Given the description of an element on the screen output the (x, y) to click on. 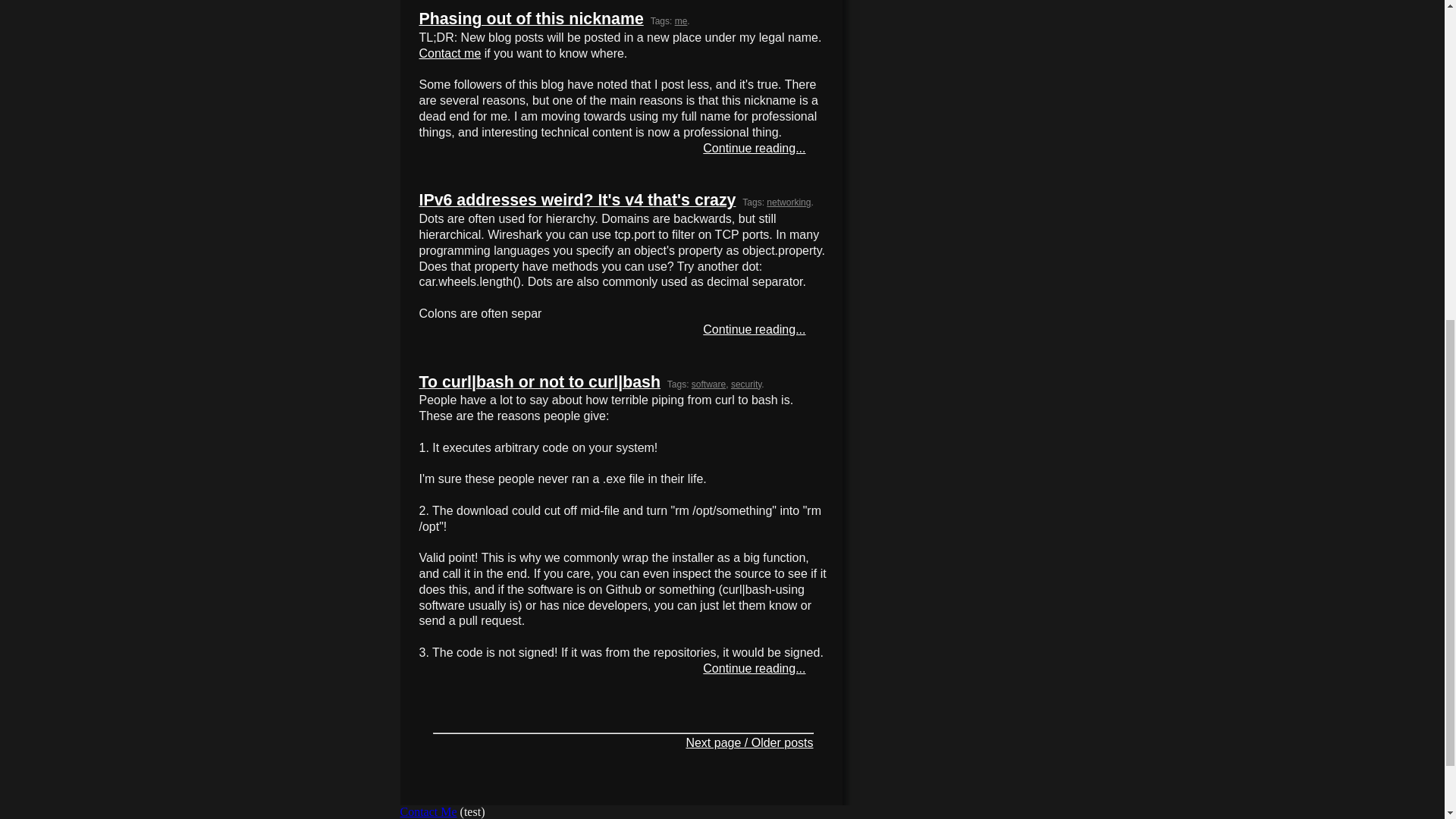
Continue reading... (754, 667)
software (708, 384)
All posts tagged with security (745, 384)
Continue reading... (754, 147)
All posts tagged with networking (788, 202)
Continue reading... (754, 328)
IPv6 addresses weird? It's v4 that's crazy (577, 201)
networking (788, 202)
me (681, 20)
All posts tagged with me (681, 20)
